Given the description of an element on the screen output the (x, y) to click on. 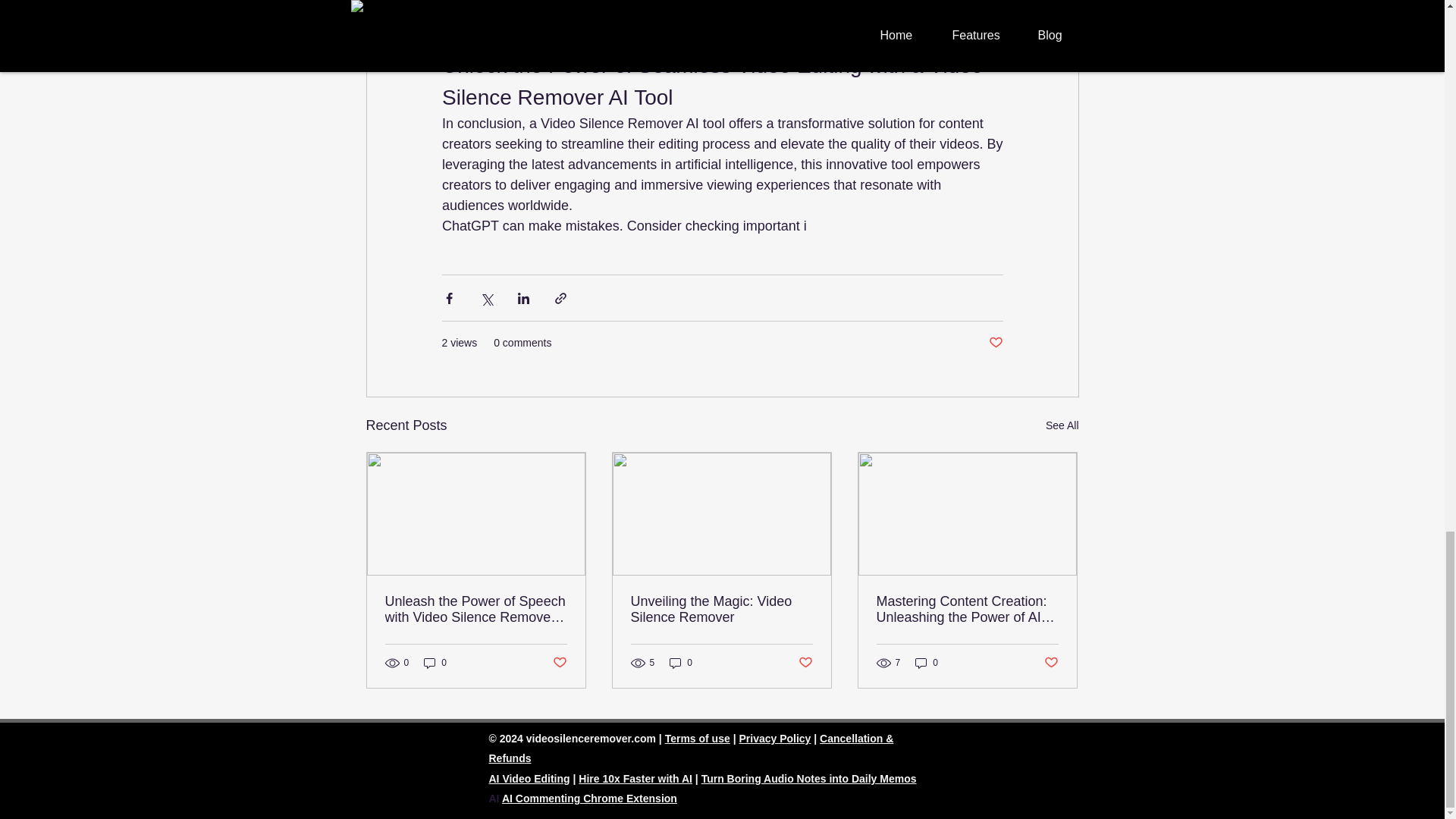
Unveiling the Magic: Video Silence Remover (721, 609)
AI Video Editing (528, 778)
0 (926, 663)
Hire 10x Faster with AI (635, 778)
Post not marked as liked (558, 662)
AI Commenting Chrome Extension (589, 798)
Privacy Policy (774, 738)
See All (1061, 425)
Terms of use (697, 738)
